Given the description of an element on the screen output the (x, y) to click on. 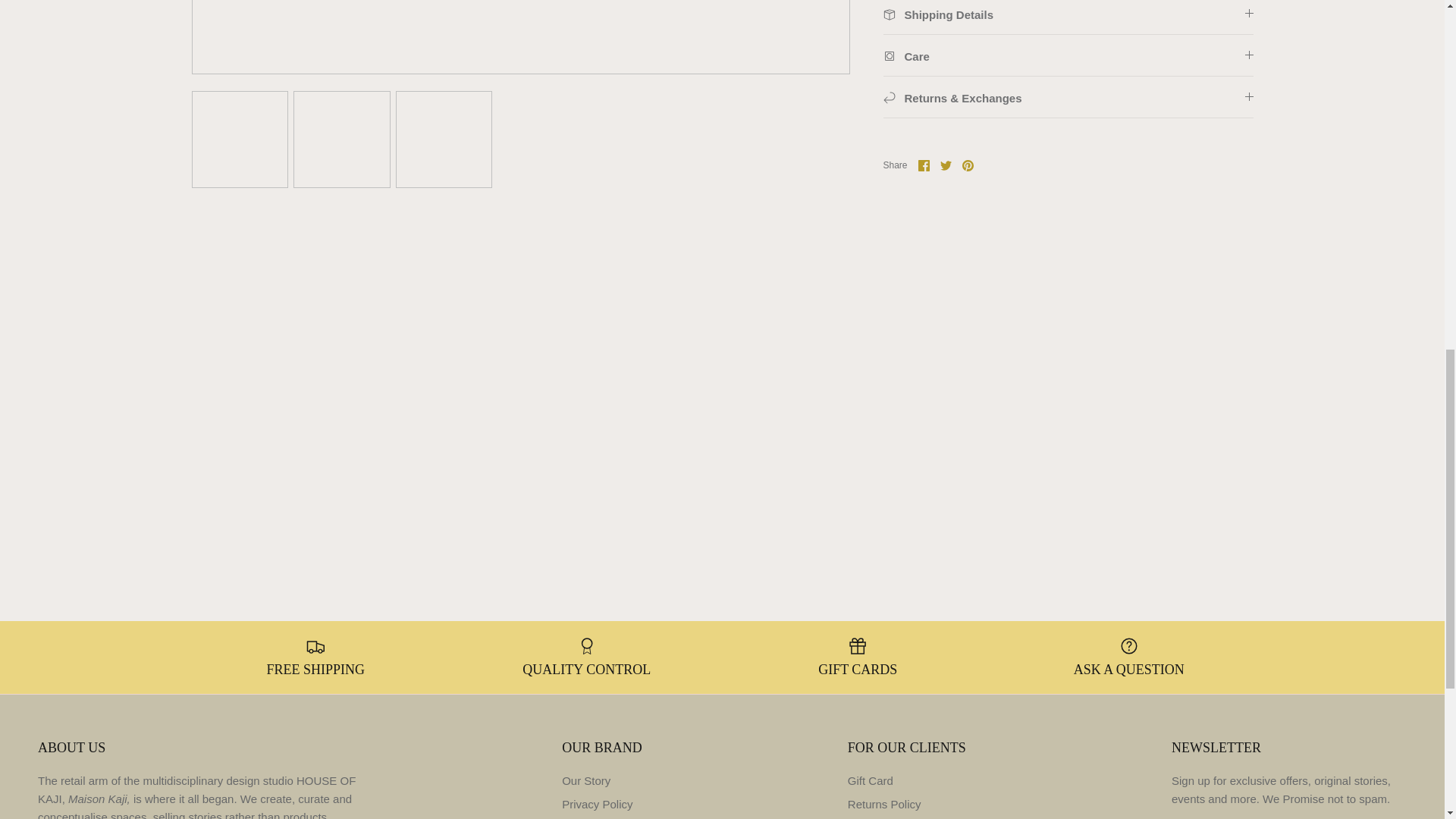
Facebook (924, 165)
Pinterest (968, 165)
Twitter (946, 165)
